Given the description of an element on the screen output the (x, y) to click on. 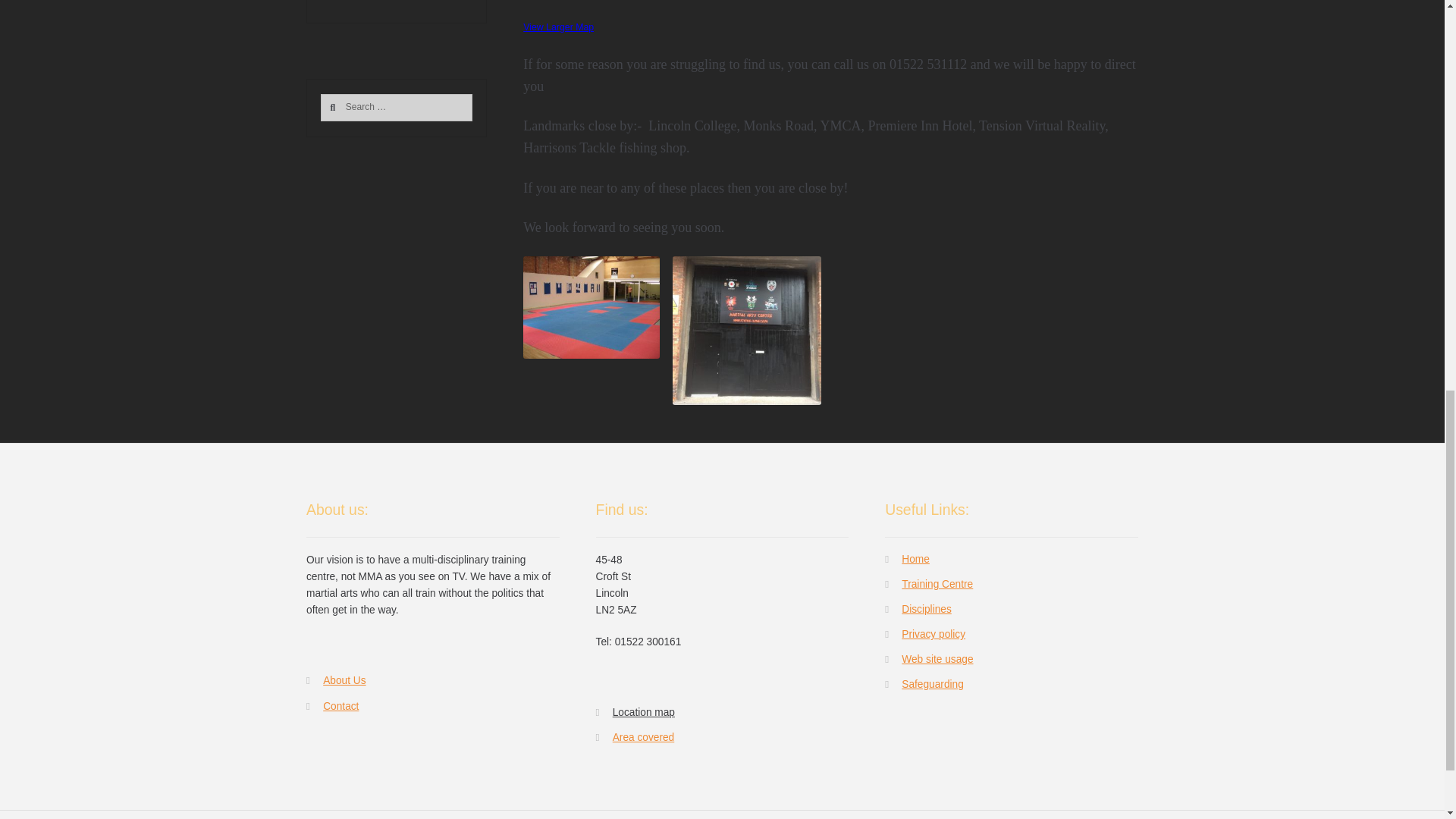
Location map (590, 307)
